Given the description of an element on the screen output the (x, y) to click on. 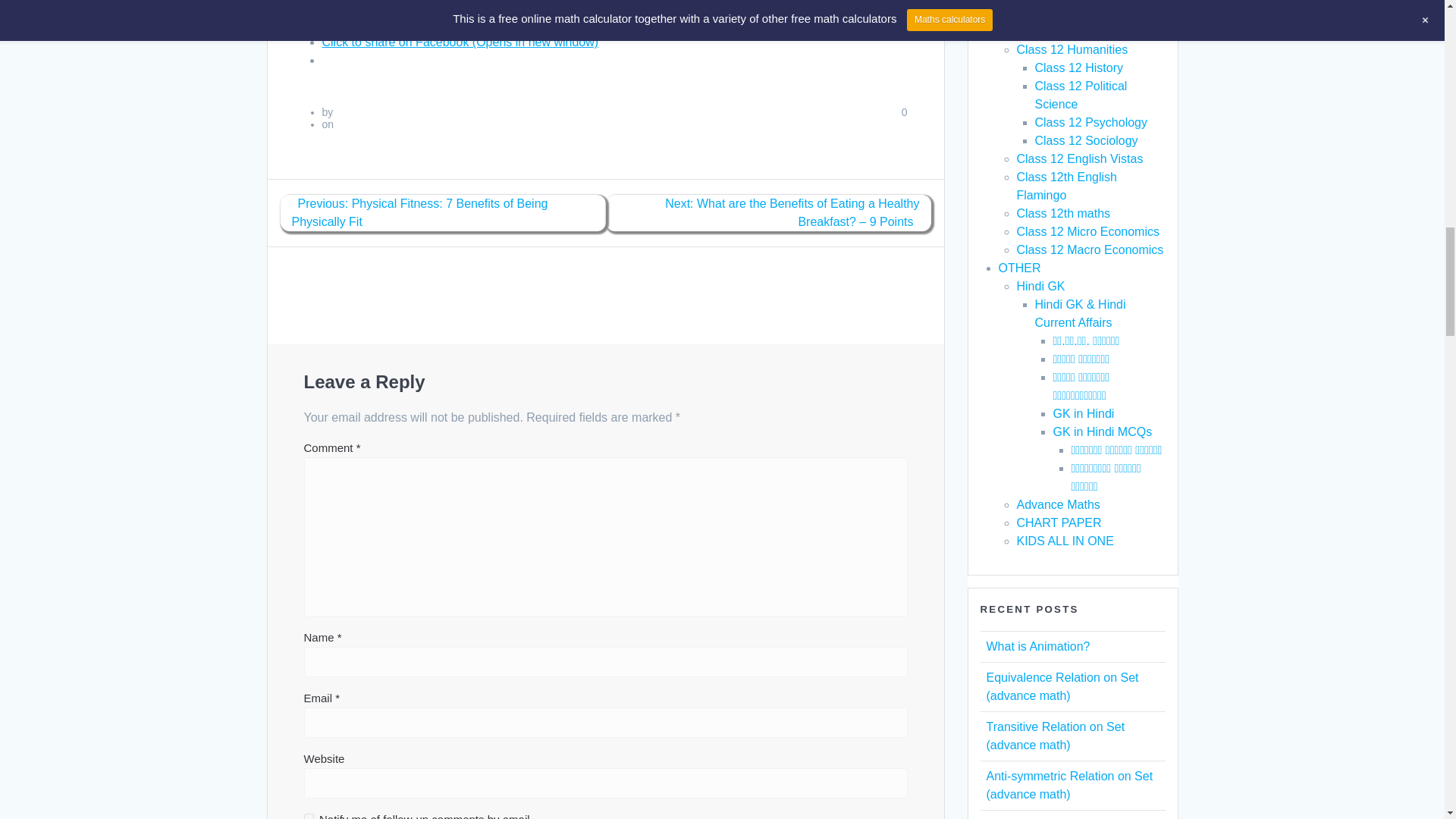
Click to share on Twitter (450, 23)
subscribe (307, 816)
Click to share on Facebook (459, 42)
